Given the description of an element on the screen output the (x, y) to click on. 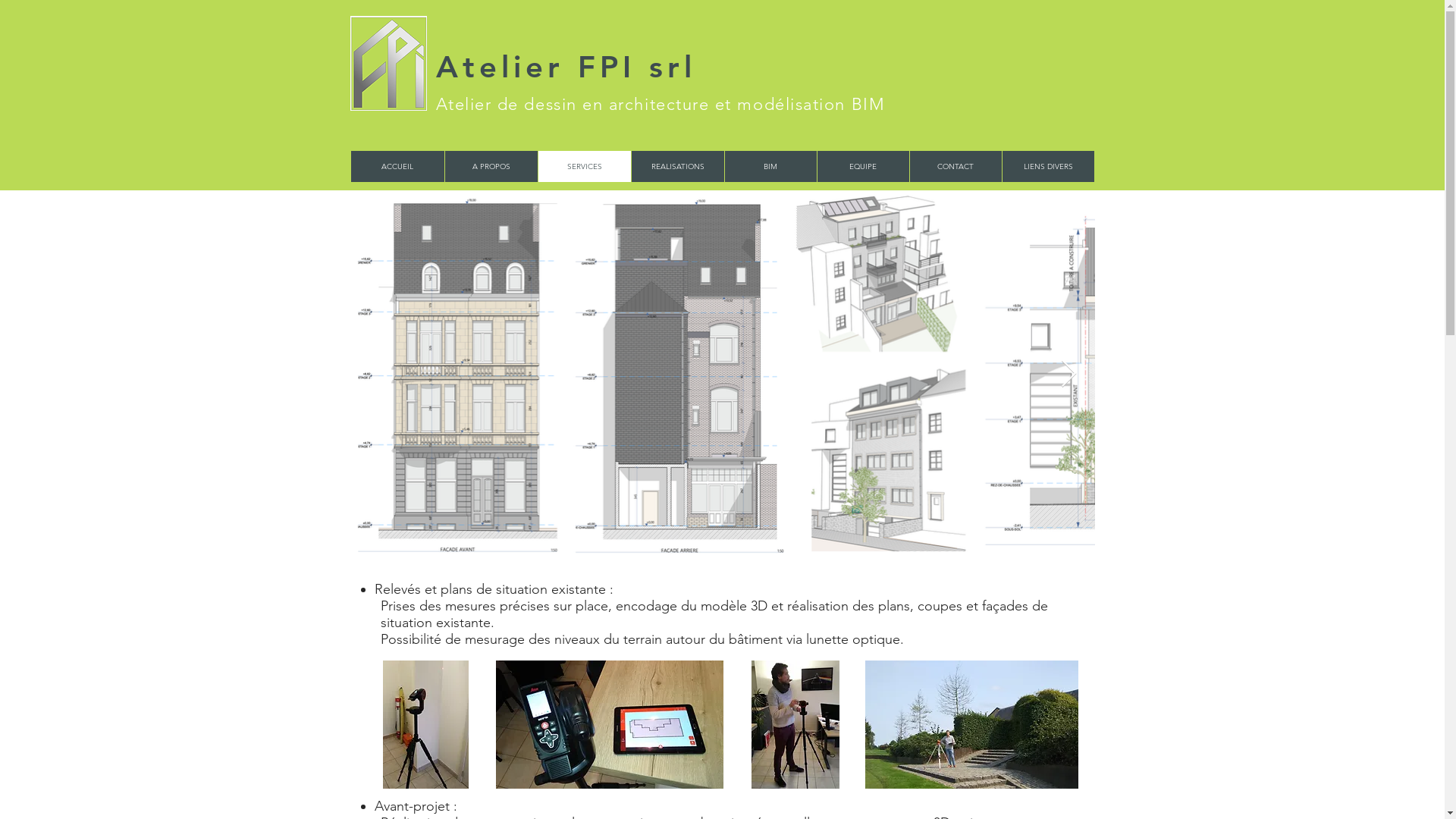
REALISATIONS Element type: text (677, 166)
BIM Element type: text (769, 166)
EQUIPE Element type: text (861, 166)
SERVICES Element type: text (583, 166)
LIENS DIVERS Element type: text (1047, 166)
ACCUEIL Element type: text (396, 166)
A PROPOS Element type: text (490, 166)
Atelier FPI srl Element type: text (565, 66)
CONTACT Element type: text (954, 166)
